Given the description of an element on the screen output the (x, y) to click on. 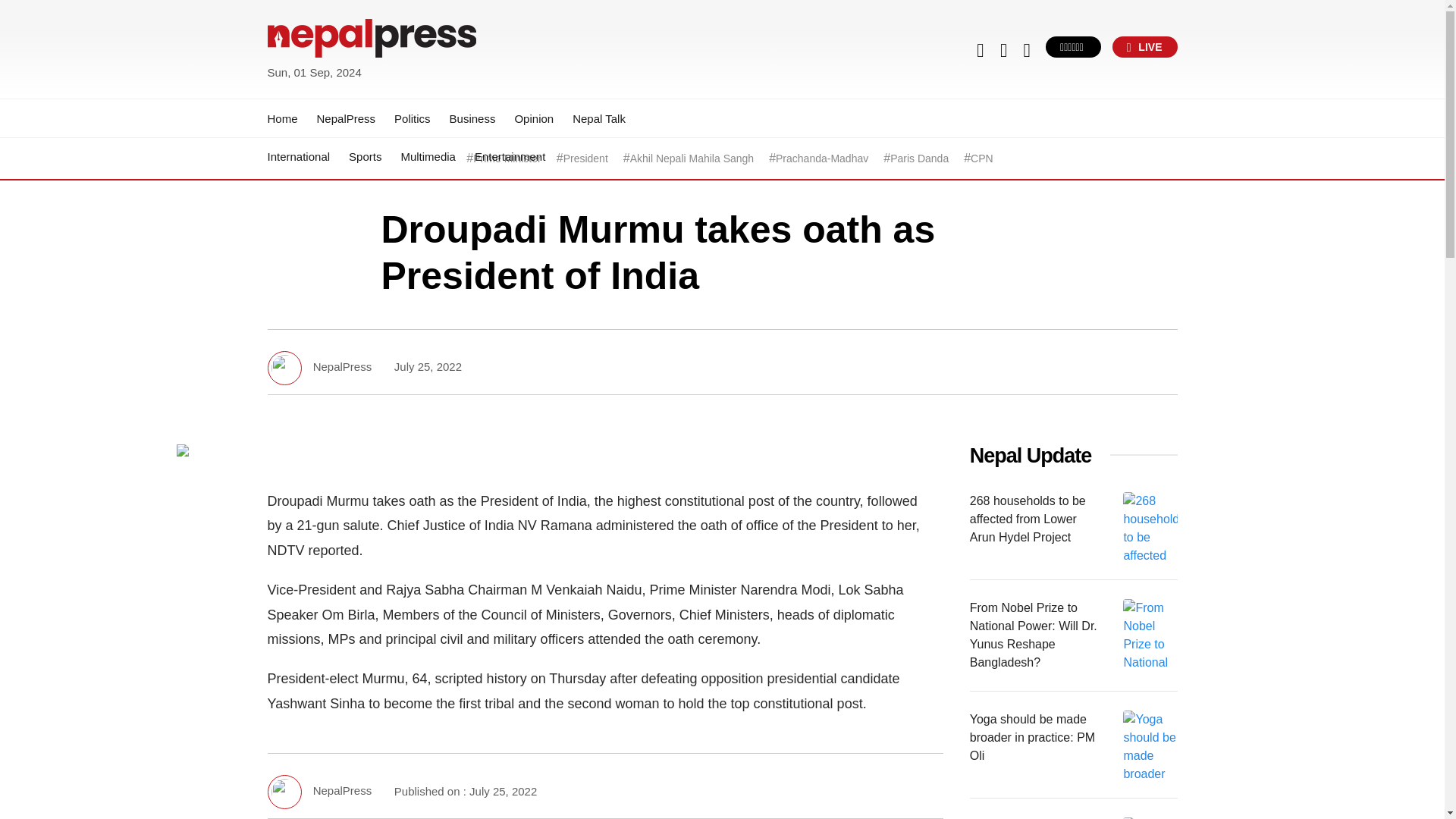
Business (472, 118)
President (585, 158)
International (298, 156)
President (585, 158)
Prime Minister (506, 158)
LIVE (1144, 46)
Prime Minister (506, 158)
Akhil Nepali Mahila Sangh (692, 158)
Multimedia (427, 156)
Paris Danda (919, 158)
